Given the description of an element on the screen output the (x, y) to click on. 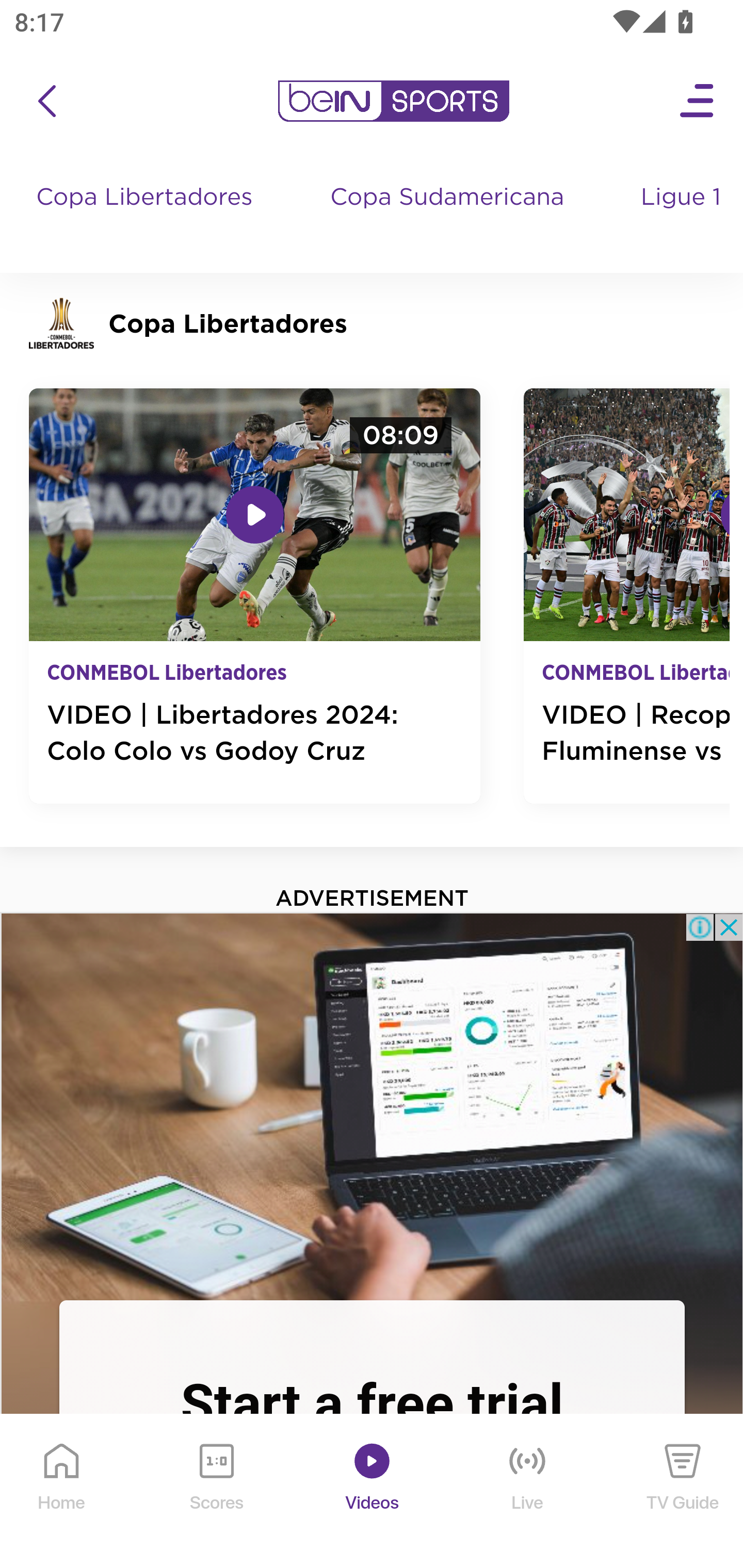
en-us?platform=mobile_android bein logo (392, 101)
icon back (46, 101)
Open Menu Icon (697, 101)
Copa Libertadores (146, 216)
Copa Sudamericana (448, 216)
Ligue 1 (682, 216)
%3Fcid%3Dppc_ROW_%7Bdscampaign%7D%26gclsrc%3Daw (371, 1105)
Home Home Icon Home (61, 1491)
Scores Scores Icon Scores (216, 1491)
Videos Videos Icon Videos (372, 1491)
TV Guide TV Guide Icon TV Guide (682, 1491)
